Given the description of an element on the screen output the (x, y) to click on. 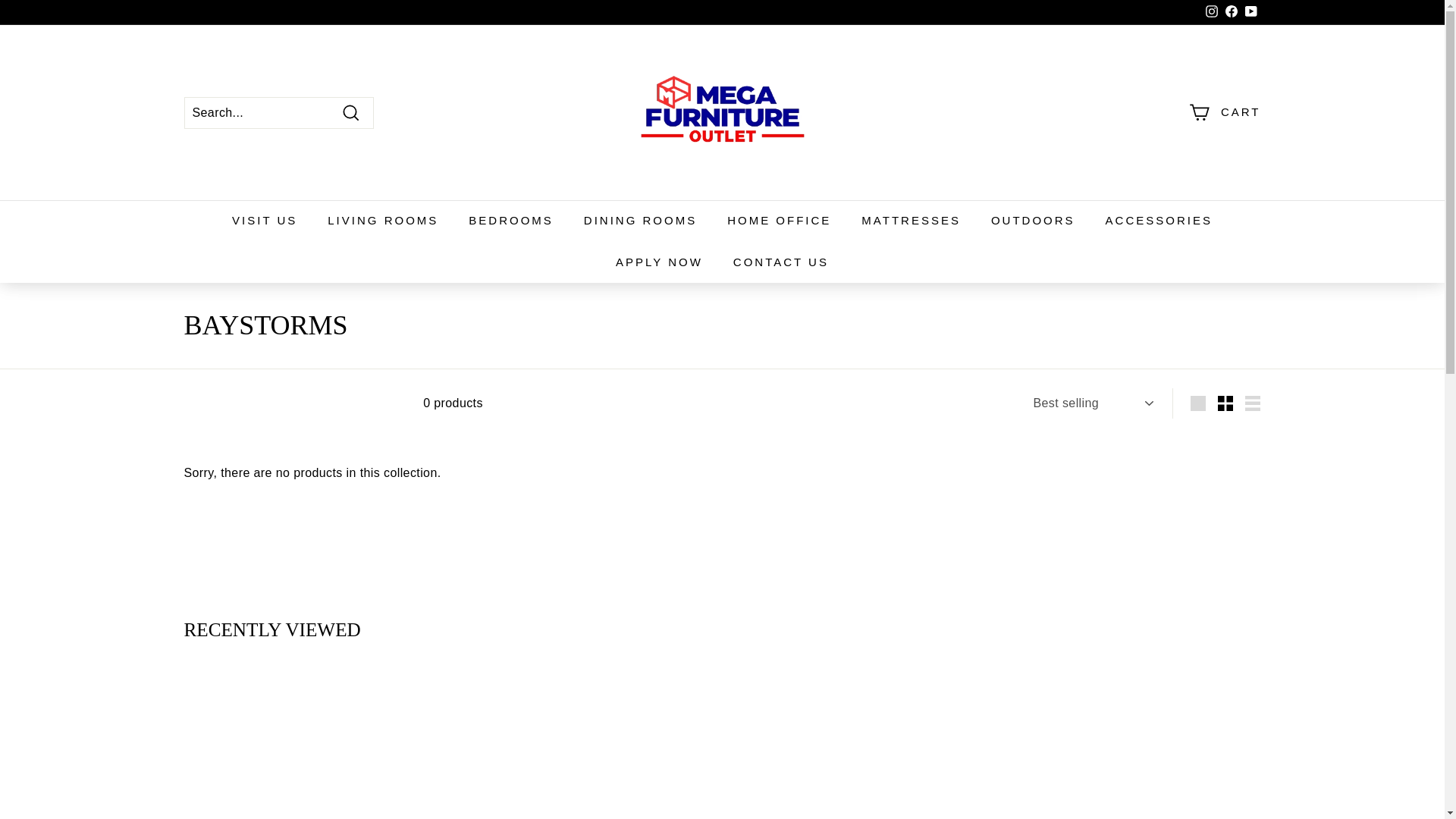
Large (1198, 403)
LIVING ROOMS (382, 220)
List (1252, 403)
Small (1225, 403)
VISIT US (264, 220)
